Given the description of an element on the screen output the (x, y) to click on. 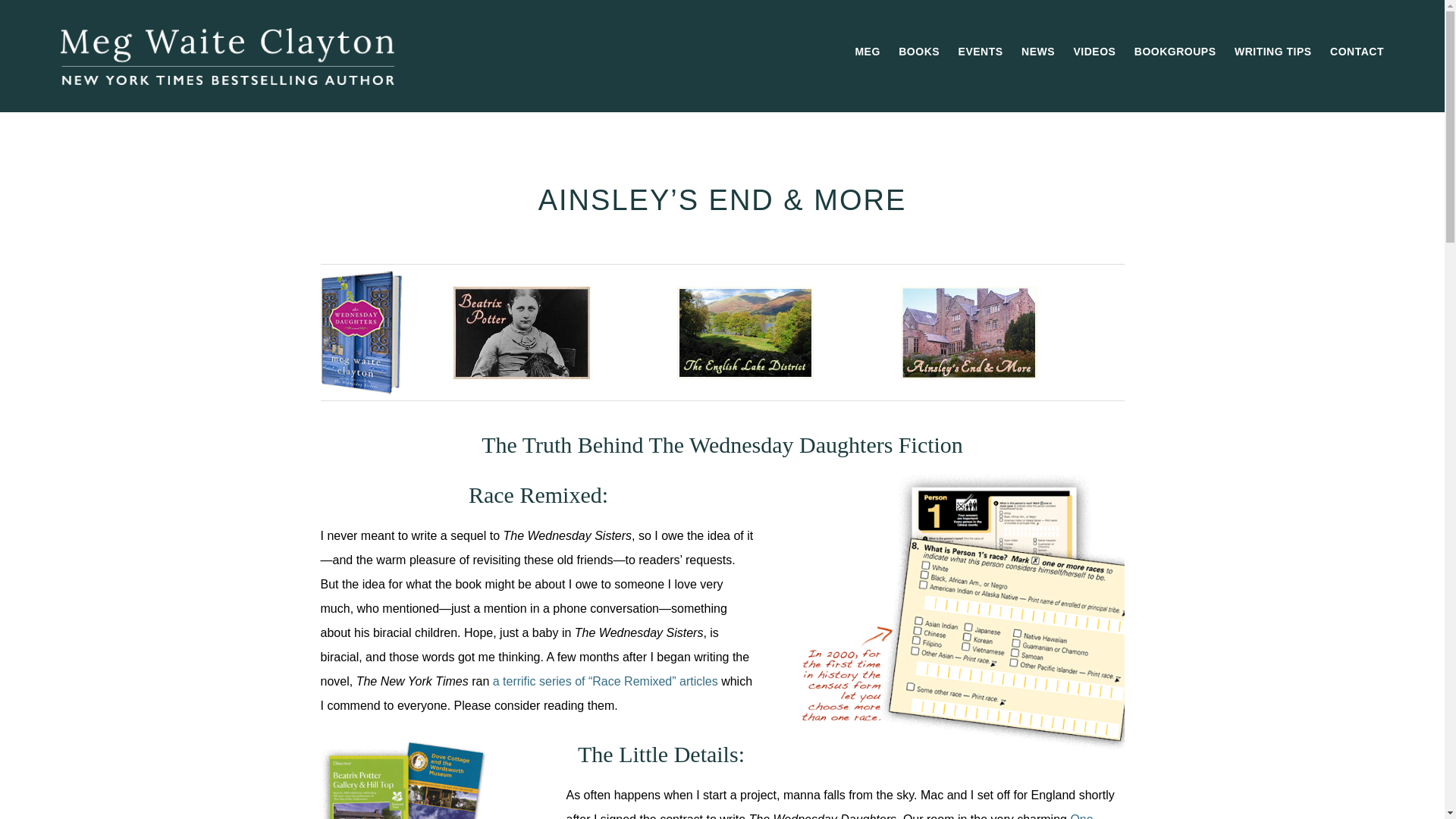
WRITING TIPS (1273, 51)
BOOKGROUPS (1175, 51)
NEWS (1037, 51)
EVENTS (980, 51)
VIDEOS (1093, 51)
BOOKS (919, 51)
Meg Waite Clayton (227, 56)
MEG (866, 51)
